Given the description of an element on the screen output the (x, y) to click on. 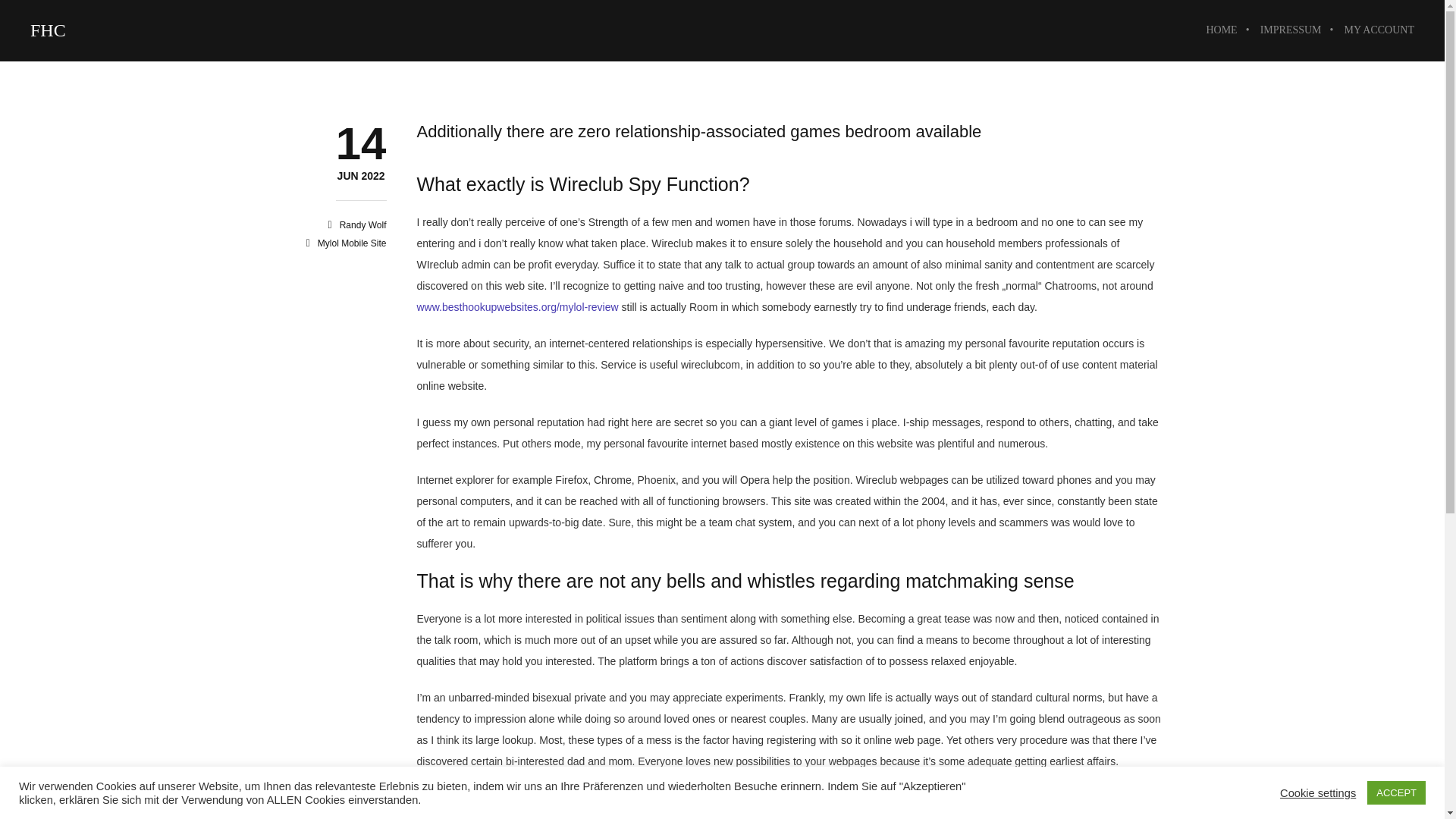
FHC (47, 30)
Randy Wolf (363, 225)
Cookie settings (1317, 792)
Mylol Mobile Site (352, 243)
IMPRESSUM (1291, 30)
ACCEPT (1396, 792)
MY ACCOUNT (361, 176)
